Given the description of an element on the screen output the (x, y) to click on. 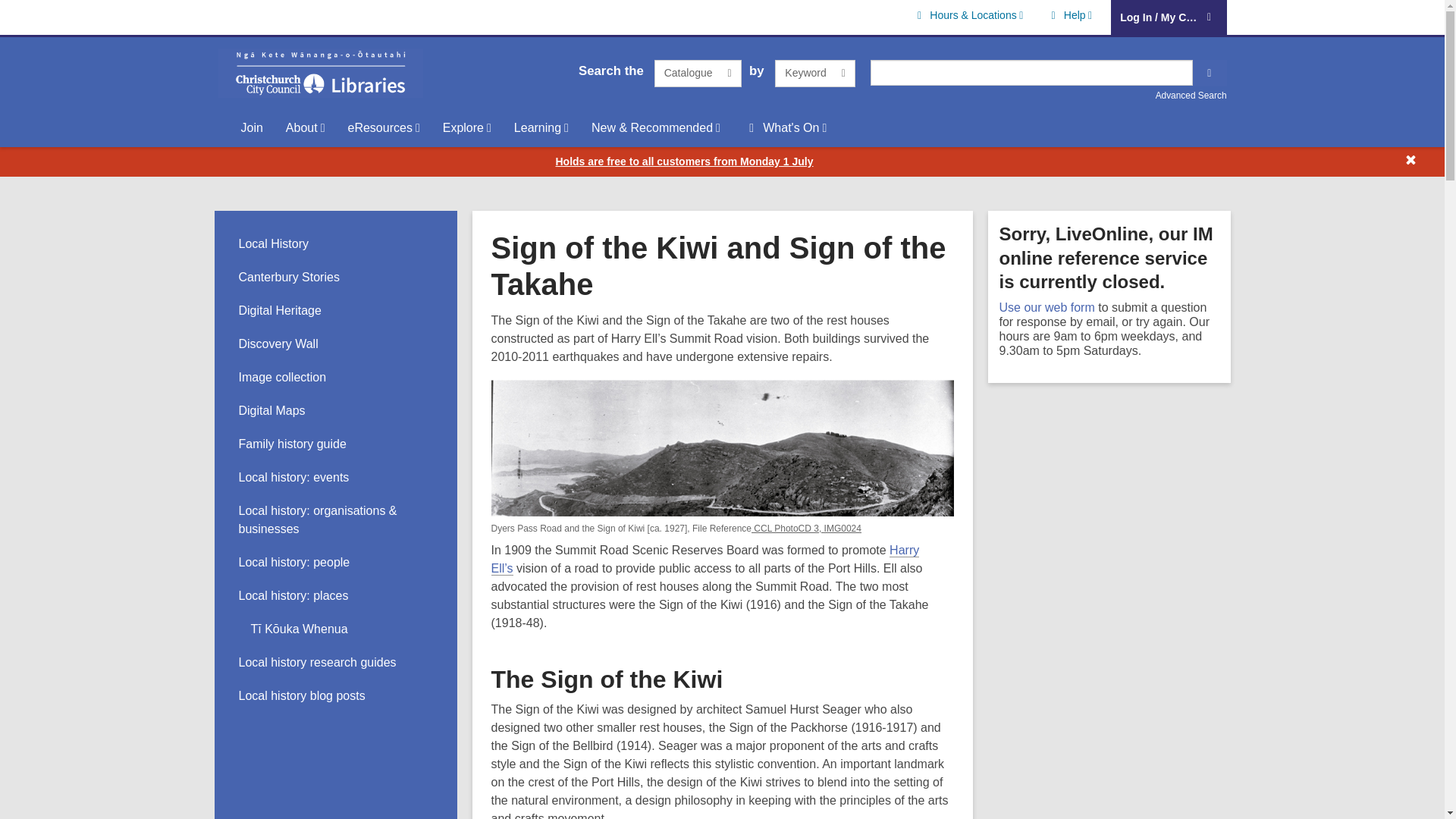
Ask a reference question using this form (1046, 307)
Family History Resources at Christchurch City Libraries (292, 443)
Harry Ell and the Summit Road (706, 559)
Catalogue (697, 72)
Keyword (815, 72)
